Given the description of an element on the screen output the (x, y) to click on. 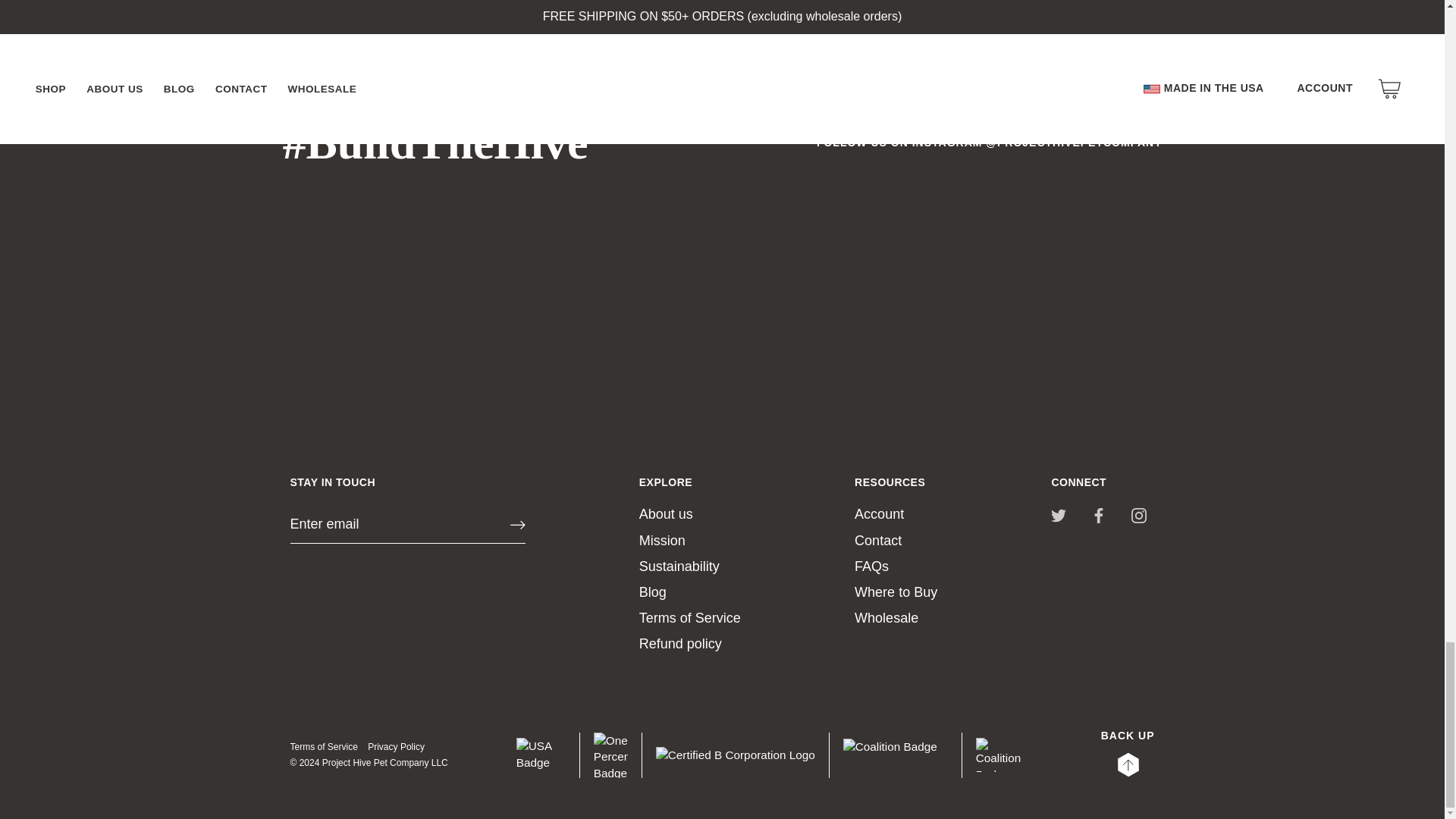
Instagram (1139, 515)
Right arrow long (516, 524)
Twitter (1058, 515)
